Given the description of an element on the screen output the (x, y) to click on. 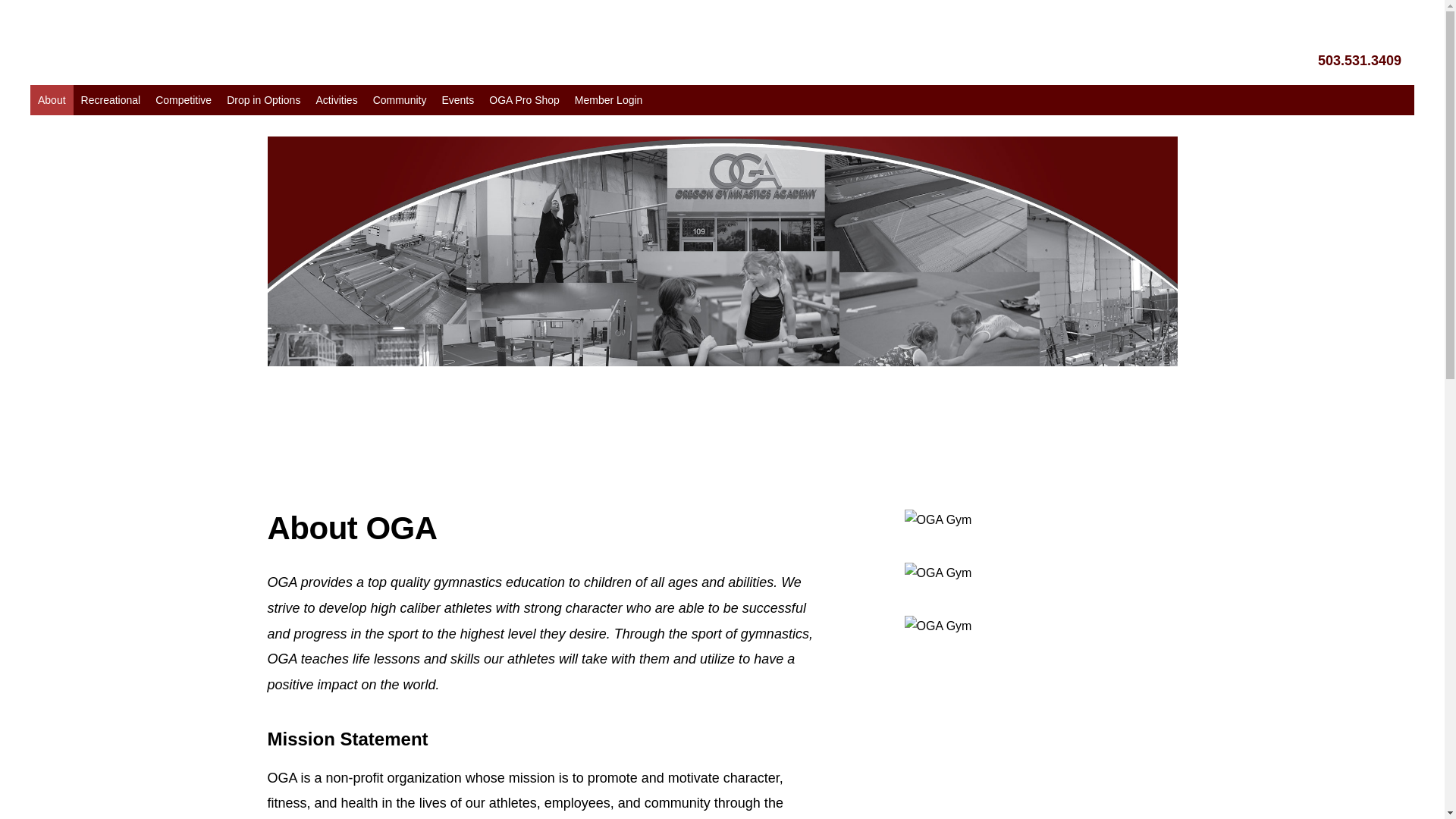
About (52, 100)
Drop in Options (263, 100)
503.531.3409 (1359, 60)
Community (399, 100)
Recreational (111, 100)
OREGON GYMNASTICS ACADEMY (102, 45)
Activities (336, 100)
Competitive (183, 100)
